Given the description of an element on the screen output the (x, y) to click on. 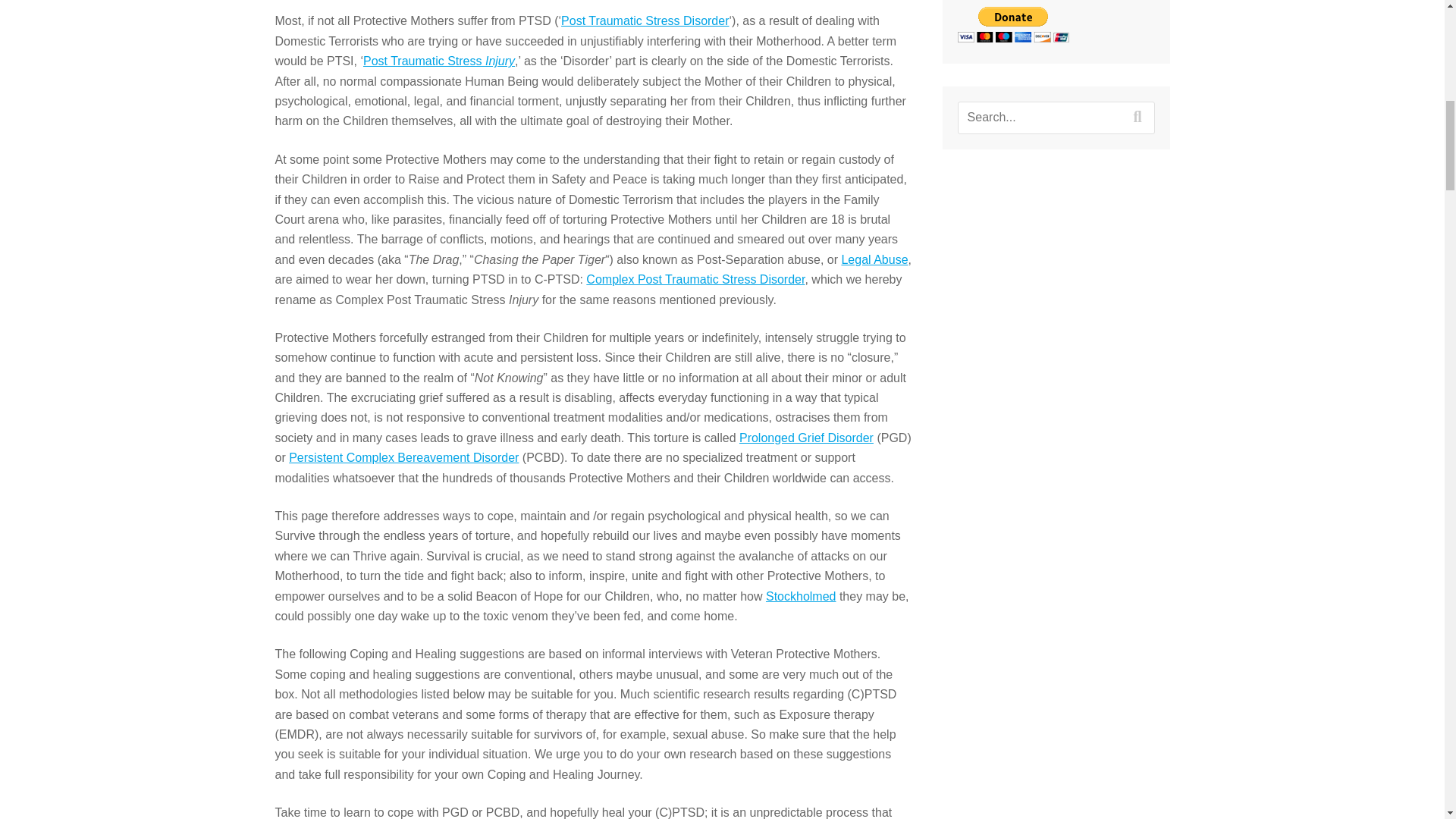
Complex Post Traumatic Stress Disorder (695, 278)
Persistent Complex Bereavement Disorder (403, 457)
Post Traumatic Stress Injury (438, 60)
Stockholmed (800, 595)
Post Traumatic Stress Disorder (644, 20)
Search for: (1056, 117)
Legal Abuse (874, 259)
Prolonged Grief Disorder (806, 437)
